Given the description of an element on the screen output the (x, y) to click on. 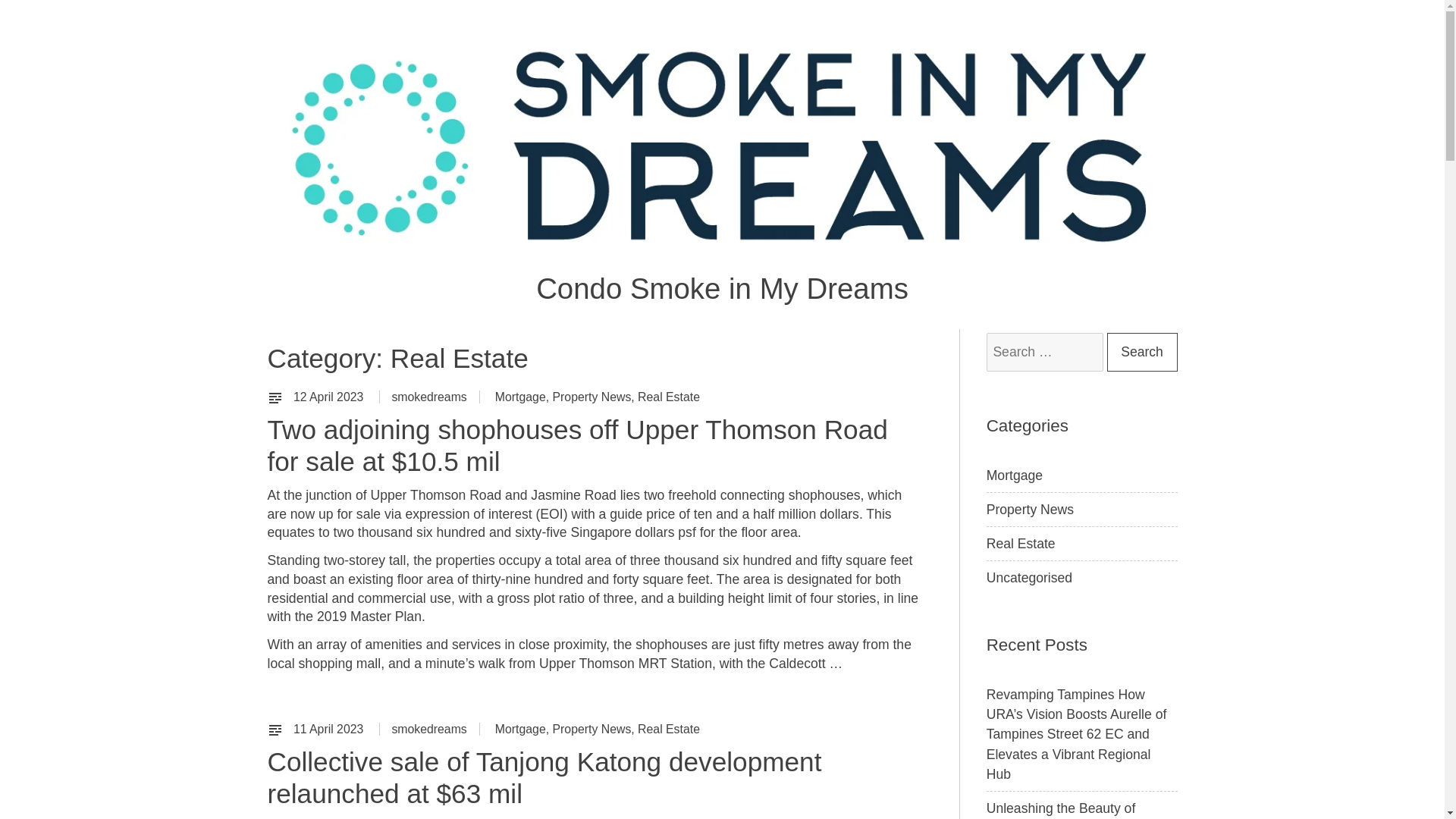
Mortgage (520, 728)
12 April 2023 (330, 396)
Real Estate (668, 728)
Condo Smoke in My Dreams (721, 287)
Search (1141, 351)
Search (1141, 351)
smokedreams (428, 728)
Real Estate (668, 396)
Mortgage (520, 396)
smokedreams (428, 396)
